Given the description of an element on the screen output the (x, y) to click on. 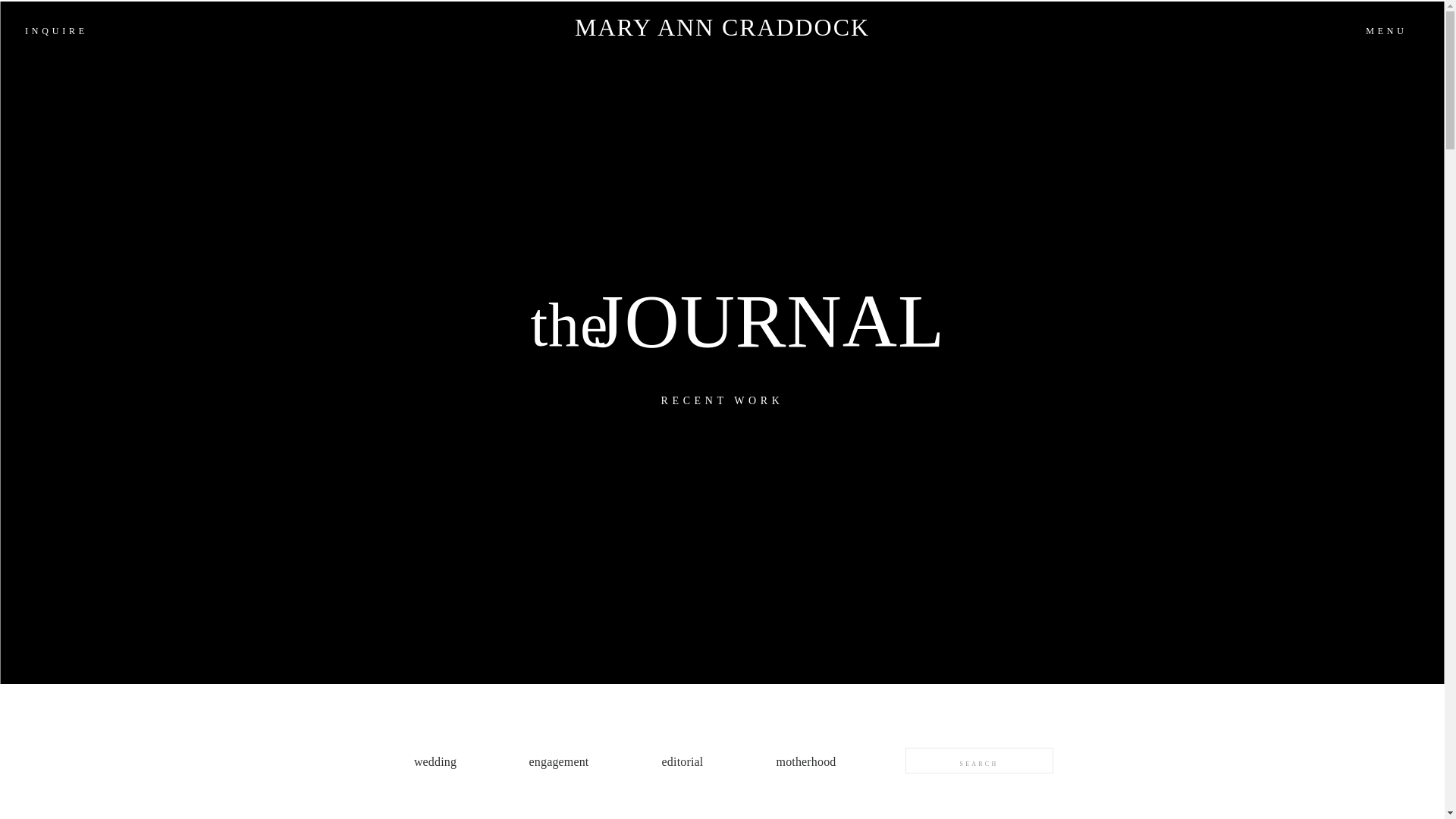
INQUIRE (56, 29)
editorial (682, 761)
motherhood (806, 761)
MENU (1386, 29)
engagement (558, 761)
MENU (1386, 29)
wedding (435, 761)
MARY ANN CRADDOCK (721, 33)
